Given the description of an element on the screen output the (x, y) to click on. 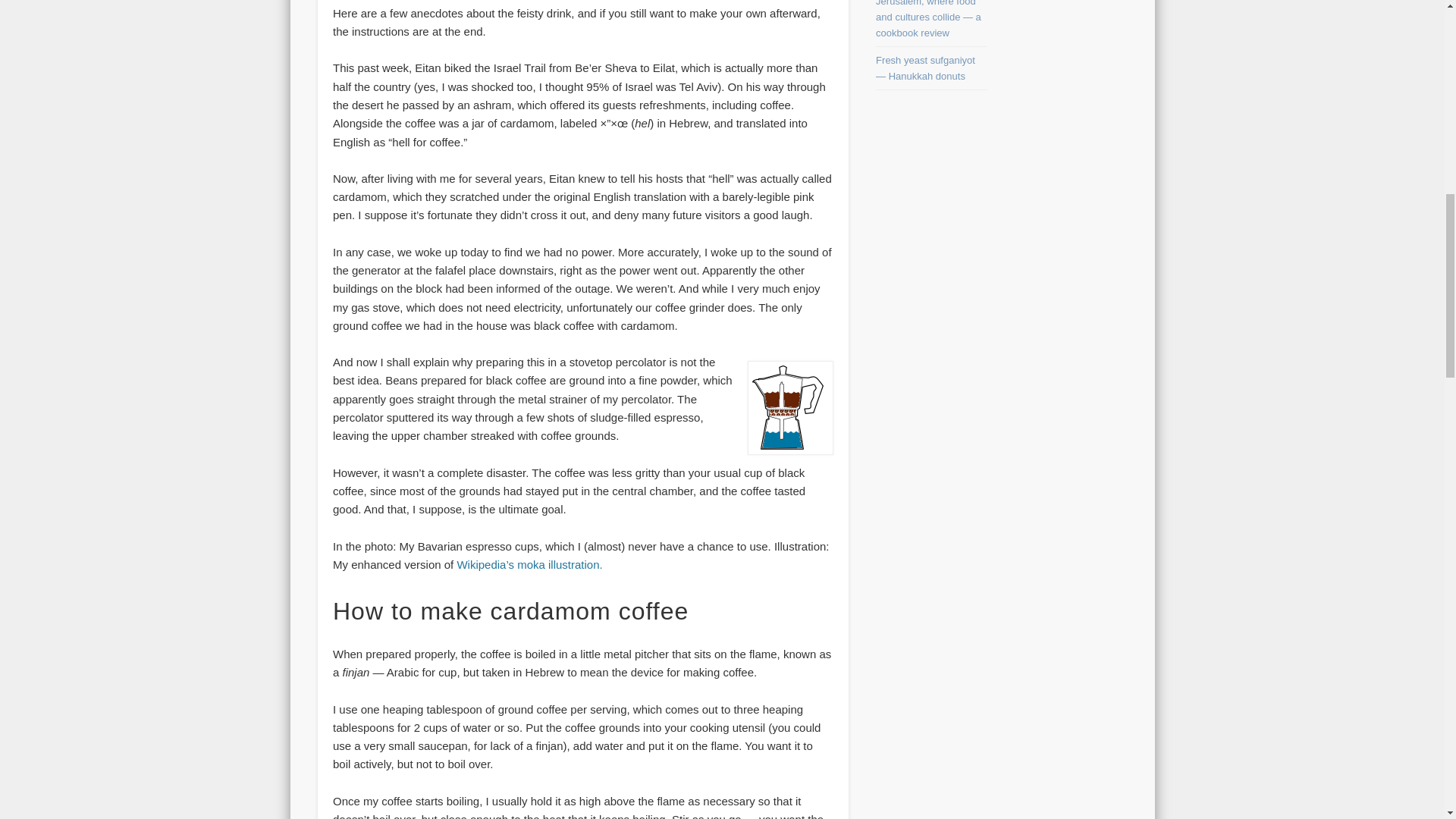
moka (790, 408)
